Given the description of an element on the screen output the (x, y) to click on. 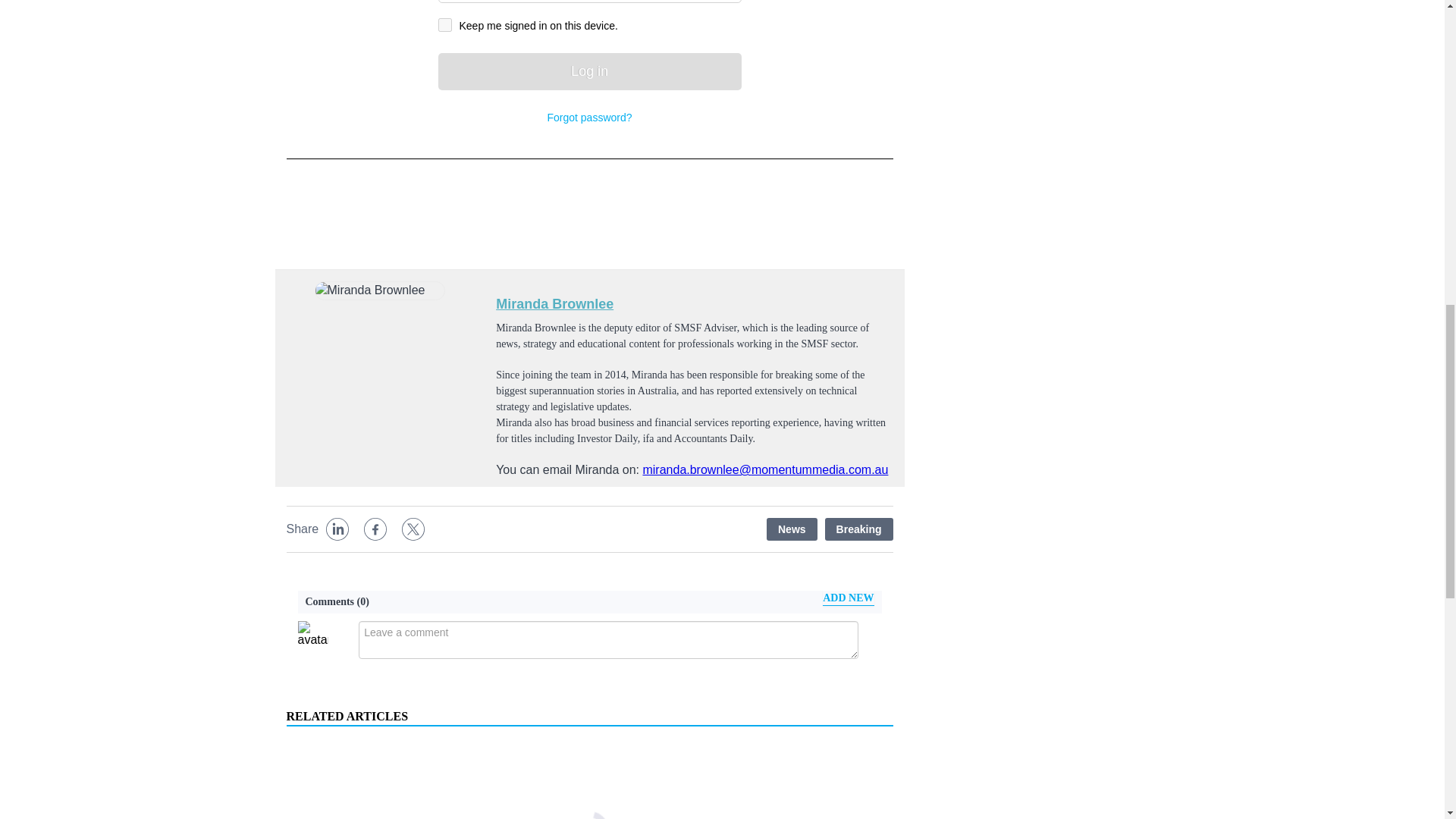
Add New (847, 598)
Log in (589, 71)
on (444, 24)
